Given the description of an element on the screen output the (x, y) to click on. 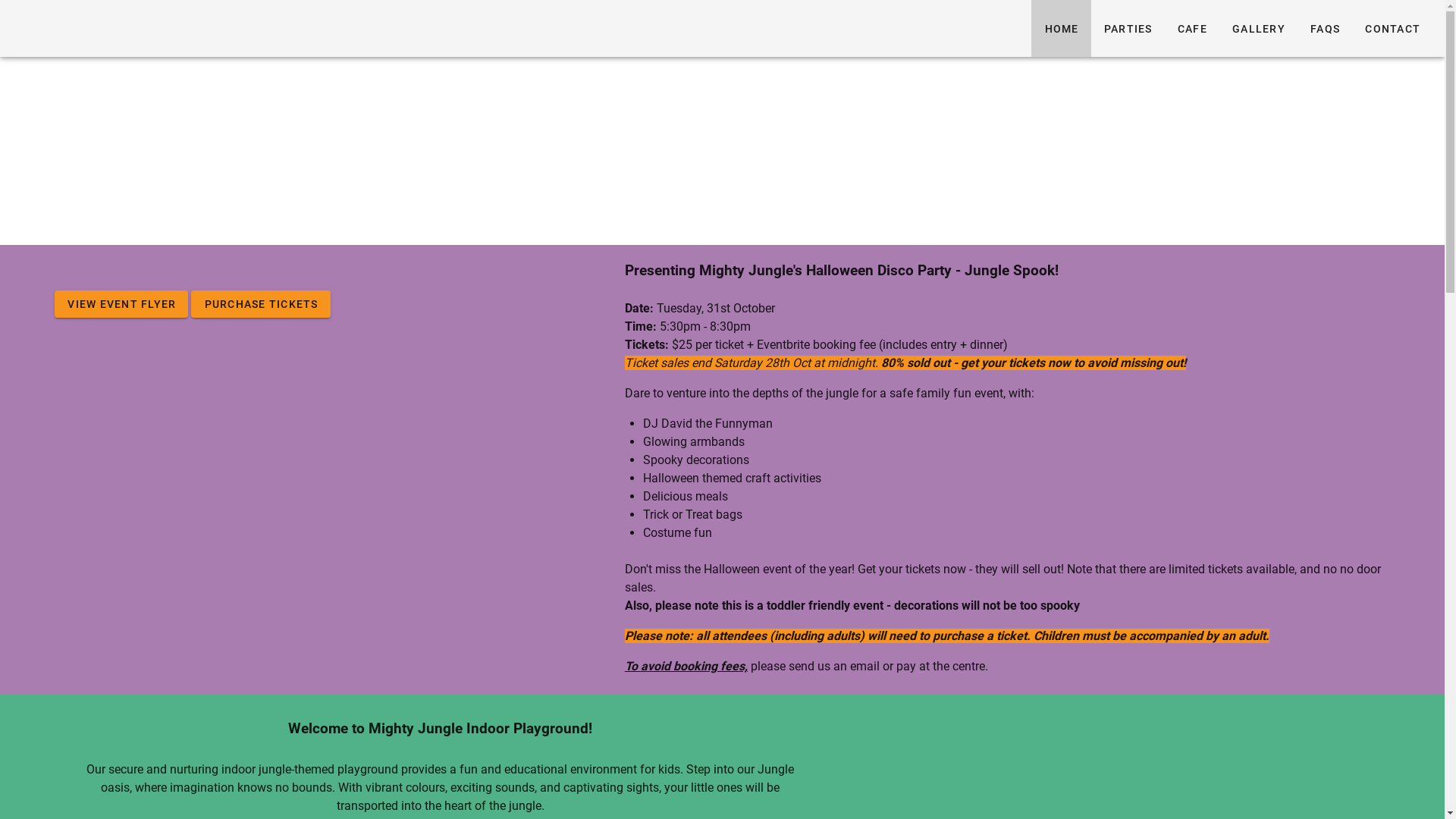
GALLERY Element type: text (1258, 28)
PARTIES Element type: text (1127, 28)
VIEW EVENT FLYER Element type: text (121, 303)
FAQS Element type: text (1324, 28)
CONTACT Element type: text (1392, 28)
PURCHASE TICKETS Element type: text (260, 303)
CAFE Element type: text (1191, 28)
HOME Element type: text (1060, 28)
